Given the description of an element on the screen output the (x, y) to click on. 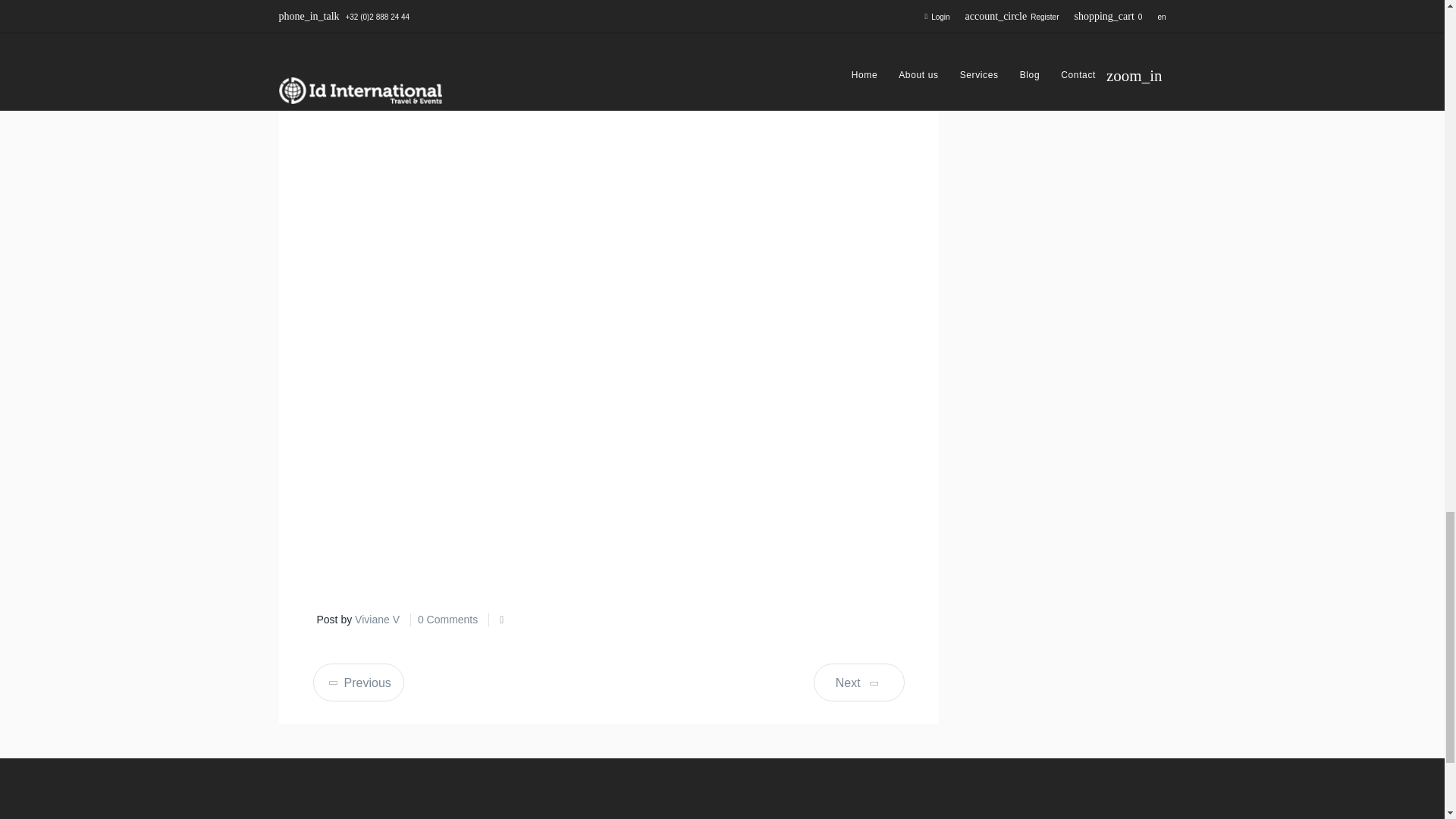
Viviane V (376, 619)
0 Comments (447, 619)
  Previous (358, 682)
